Given the description of an element on the screen output the (x, y) to click on. 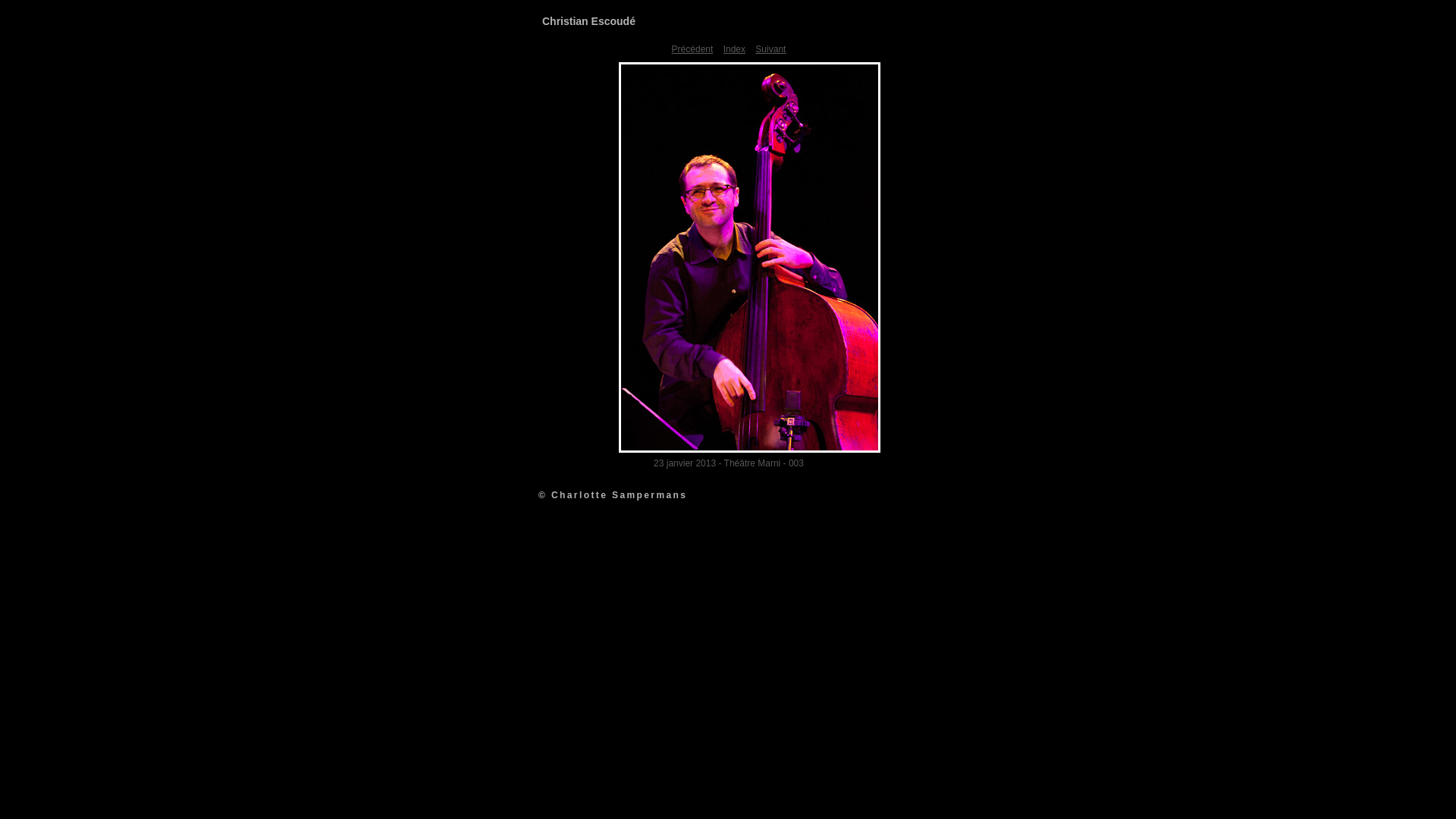
Suivant Element type: text (770, 48)
Index Element type: text (734, 48)
